Given the description of an element on the screen output the (x, y) to click on. 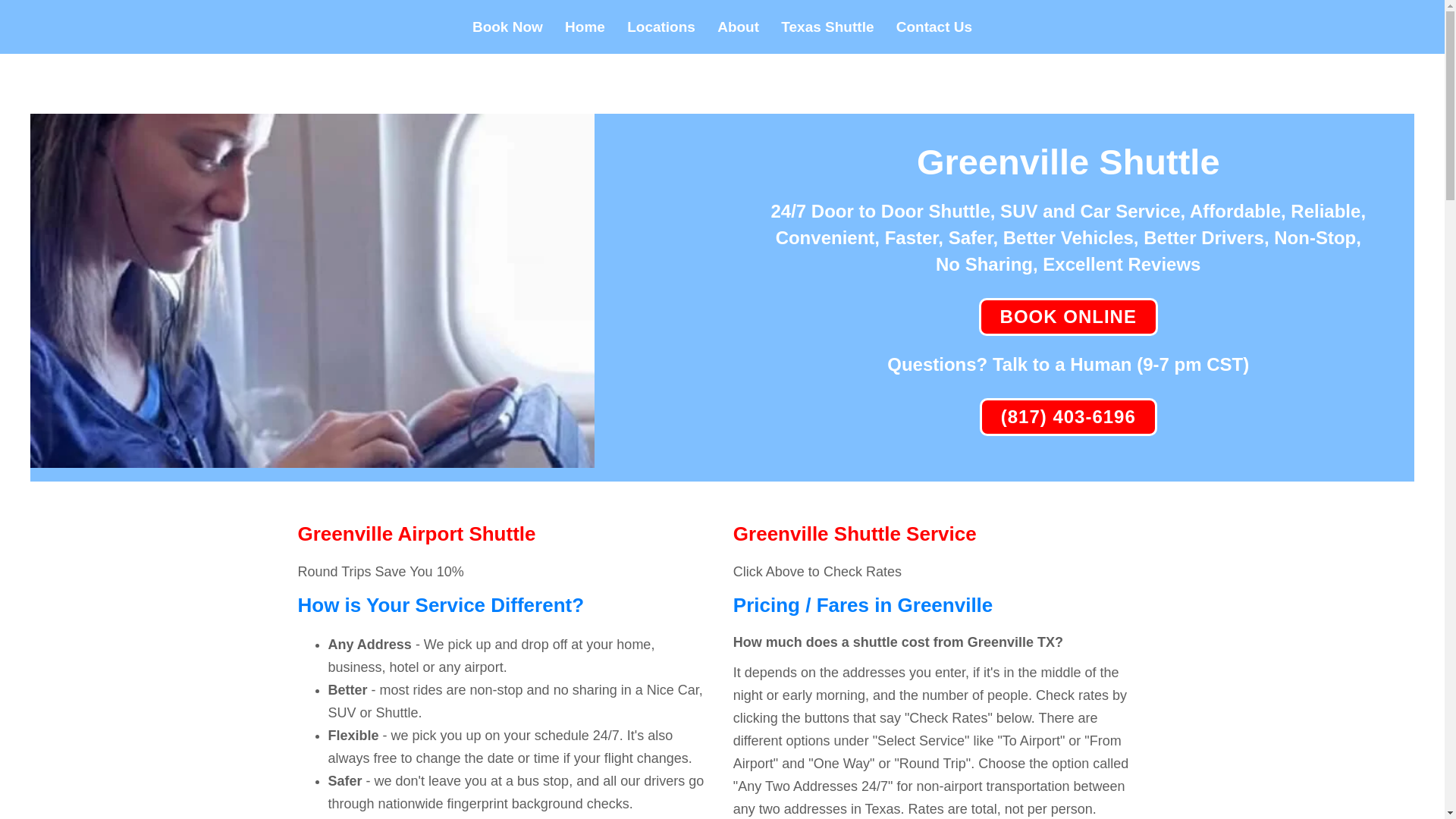
Book Airport Shuttle Online (1067, 316)
Texas Shuttle (826, 27)
Home (585, 27)
Contact Us (933, 27)
BOOK ONLINE (1067, 316)
Locations (661, 27)
About (737, 27)
Book Now (507, 27)
Texas Shuttle Phone Number (1068, 416)
Texas Shuttle Book Online (312, 456)
